Given the description of an element on the screen output the (x, y) to click on. 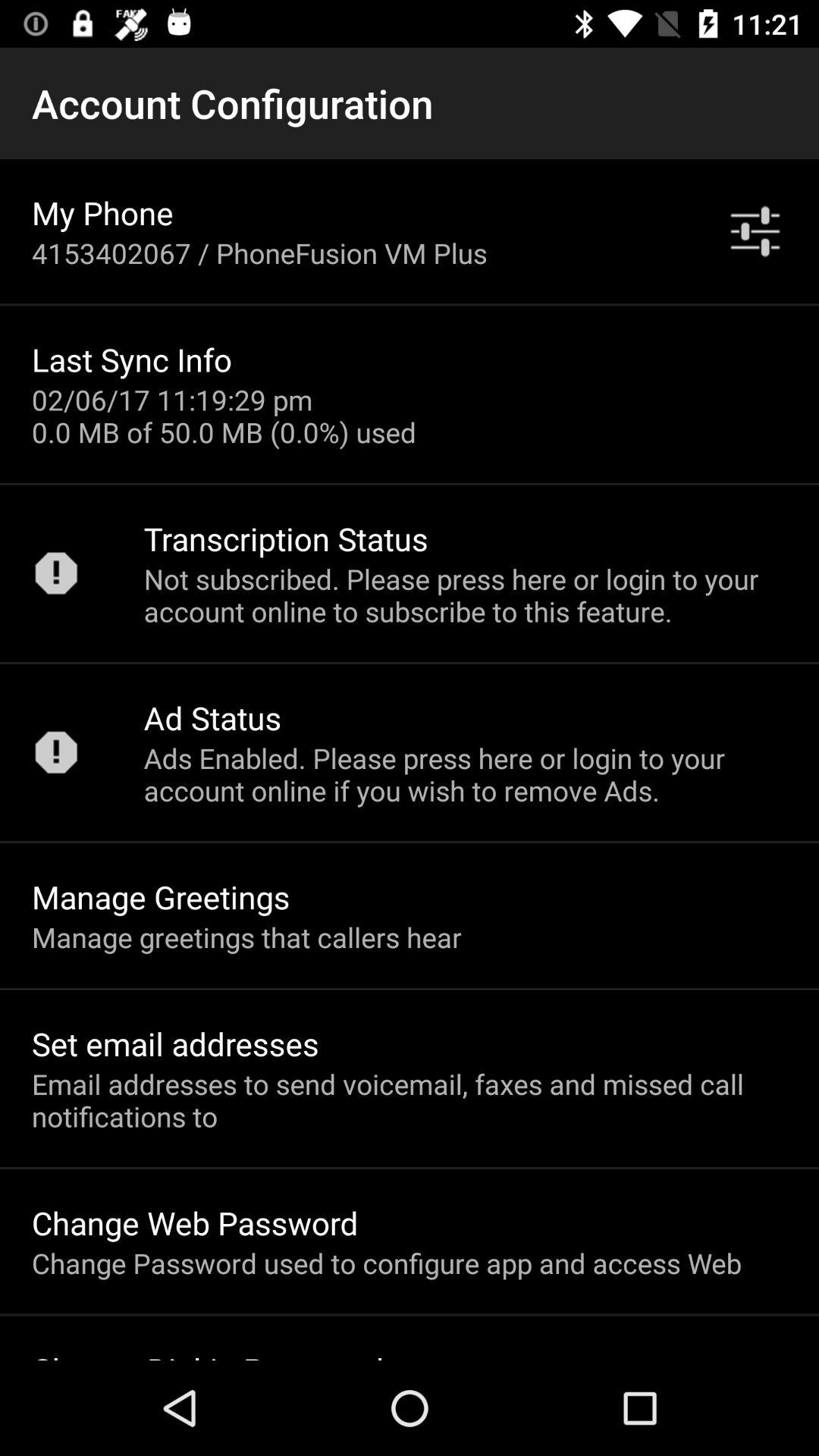
open app below the transcription status item (465, 595)
